Given the description of an element on the screen output the (x, y) to click on. 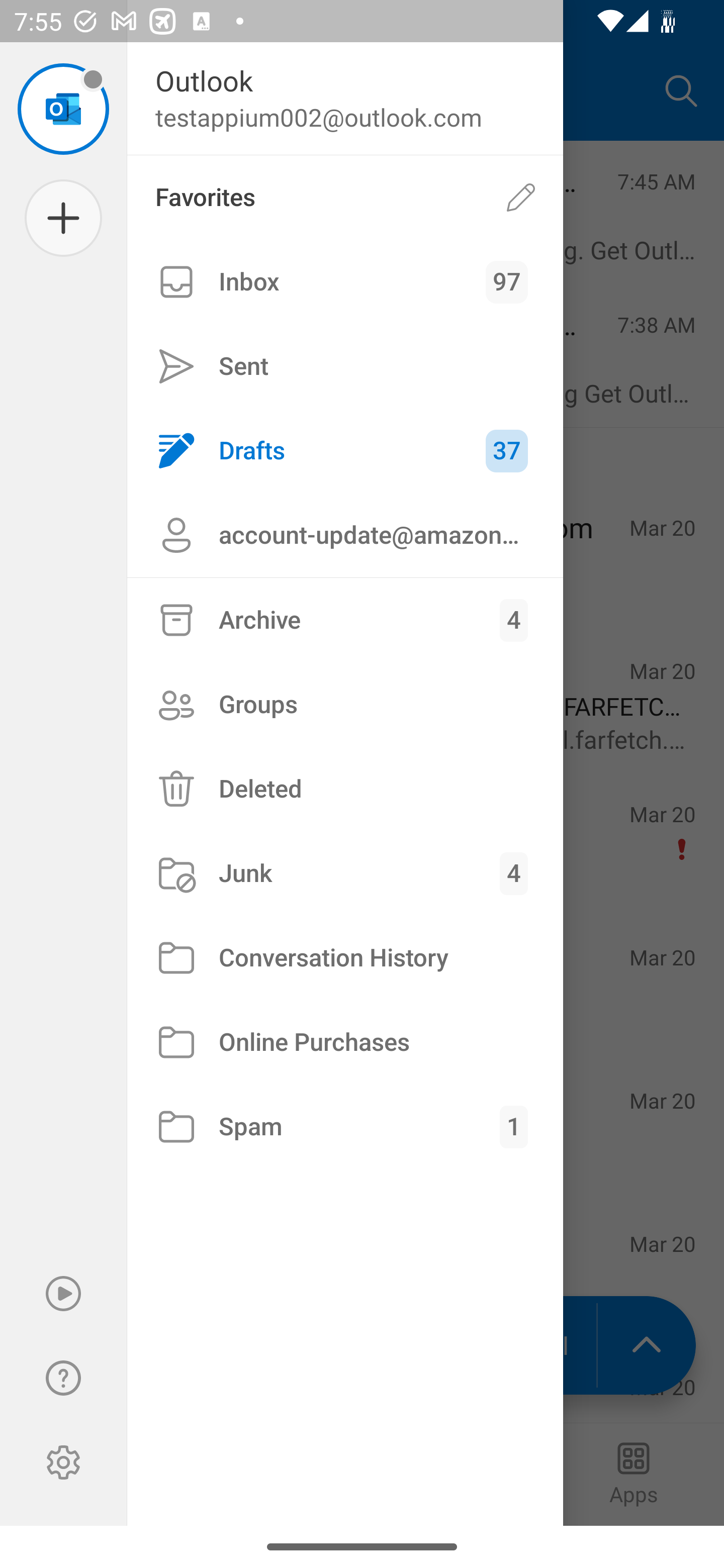
Edit favorites (520, 197)
Add account (63, 217)
Inbox Inbox, 97 unread emails (345, 281)
Sent (345, 366)
Drafts Drafts, 37 unread emails,Selected (345, 450)
account-update@amazon.com (345, 534)
Archive Archive, 2 of 8, level 1, 4 unread emails (345, 619)
Groups Groups, 3 of 8, level 1 (345, 703)
Deleted Deleted, 4 of 8, level 1 (345, 788)
Junk Junk, 5 of 8, level 1, 4 unread emails (345, 873)
Online Purchases Online Purchases, 7 of 8, level 1 (345, 1042)
Spam Spam, 8 of 8, level 1, 1 unread email (345, 1127)
Play My Emails (62, 1293)
Help (62, 1377)
Settings (62, 1462)
